Given the description of an element on the screen output the (x, y) to click on. 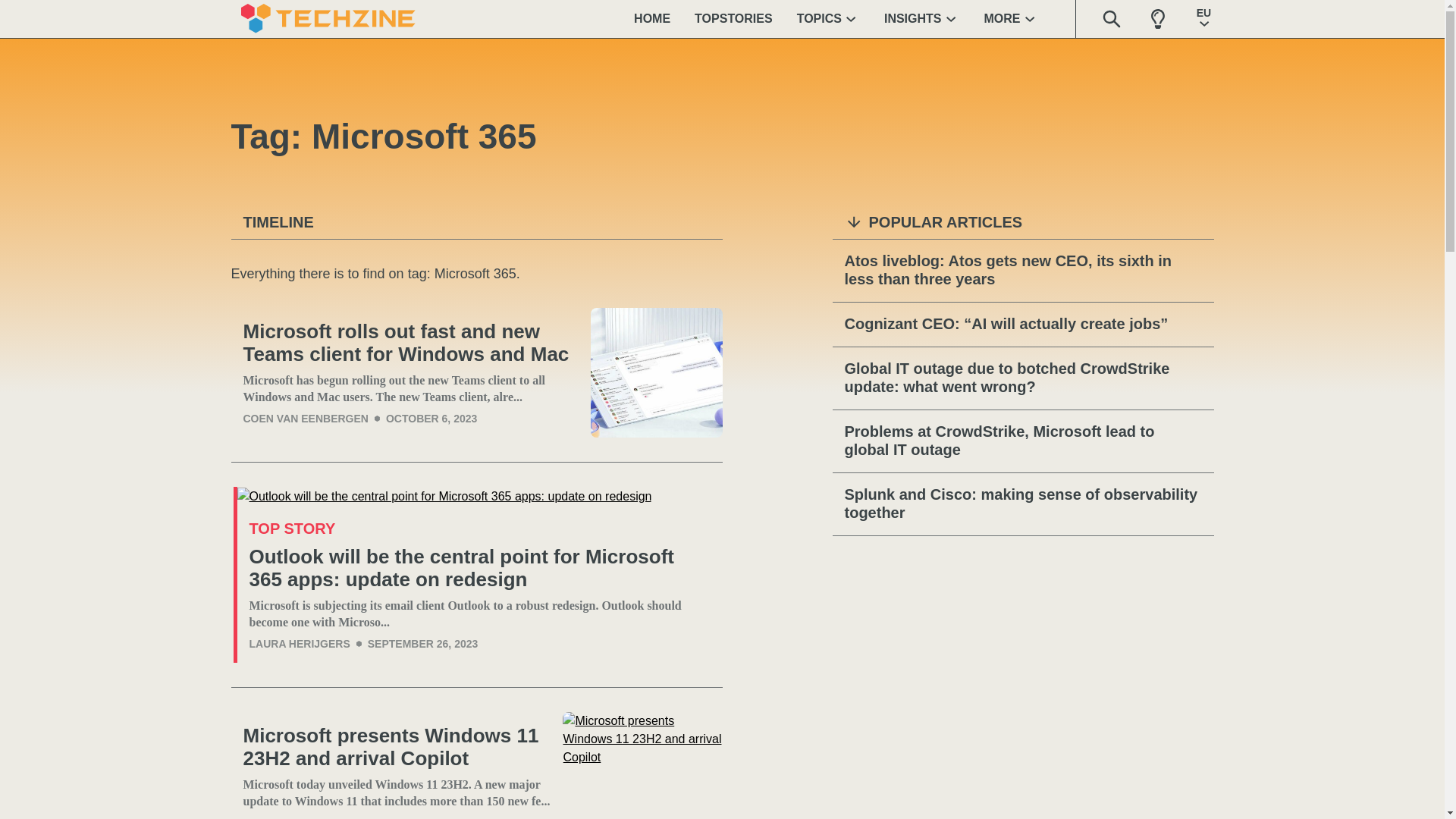
Microsoft presents Windows 11 23H2 and arrival Copilot (642, 765)
MORE (1011, 18)
LAURA HERIJGERS (298, 644)
Microsoft presents Windows 11 23H2 and arrival Copilot (396, 746)
TOPSTORIES (733, 18)
TOPICS (828, 18)
TOP STORY (291, 528)
HOME (651, 18)
COEN VAN EENBERGEN (305, 418)
